Given the description of an element on the screen output the (x, y) to click on. 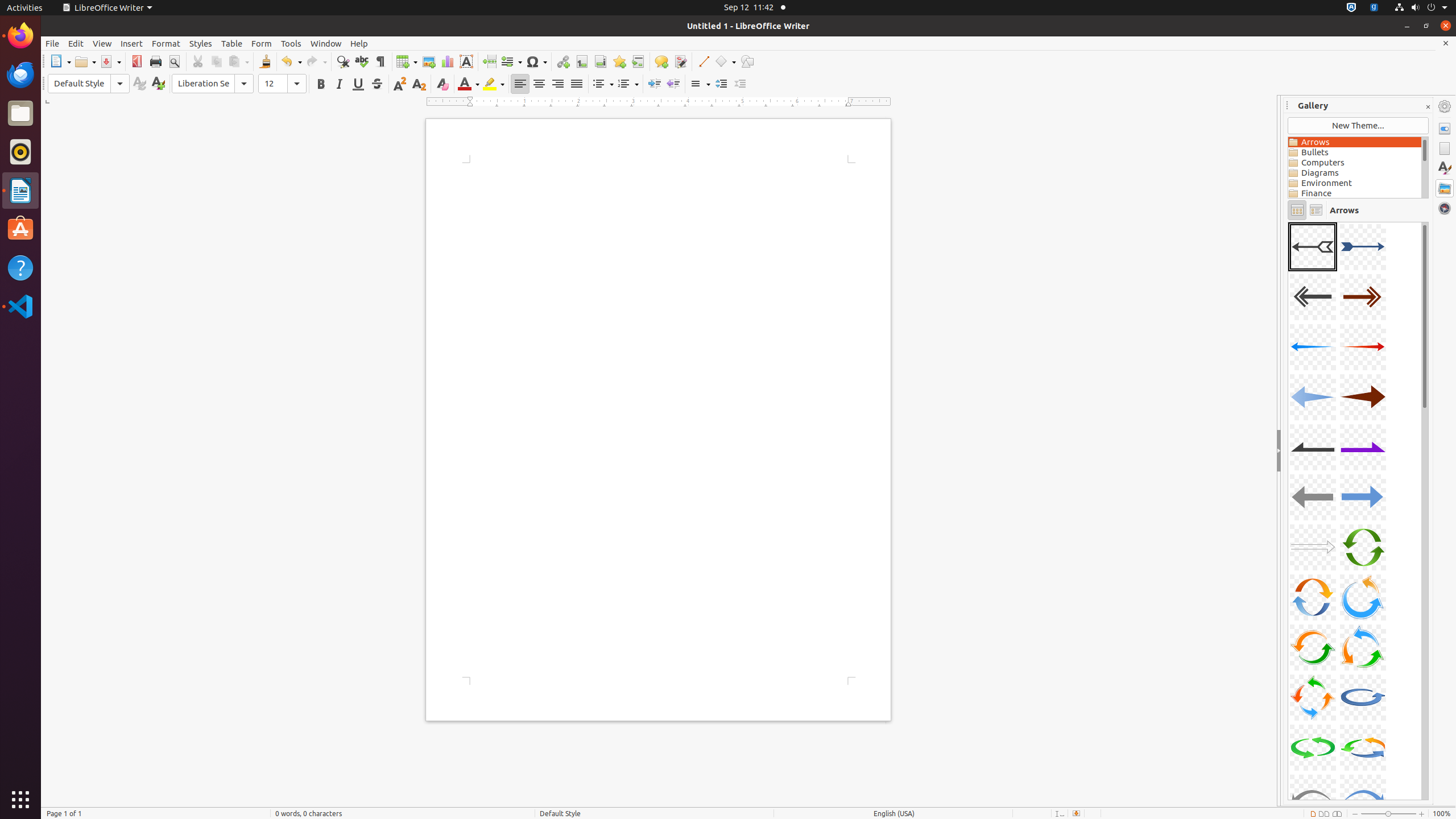
Symbol Element type: push-button (535, 61)
Font Color Element type: push-button (468, 83)
Clear Element type: push-button (441, 83)
Clone Element type: push-button (264, 61)
A14-CircleArrow-Green Element type: list-item (1362, 546)
